Given the description of an element on the screen output the (x, y) to click on. 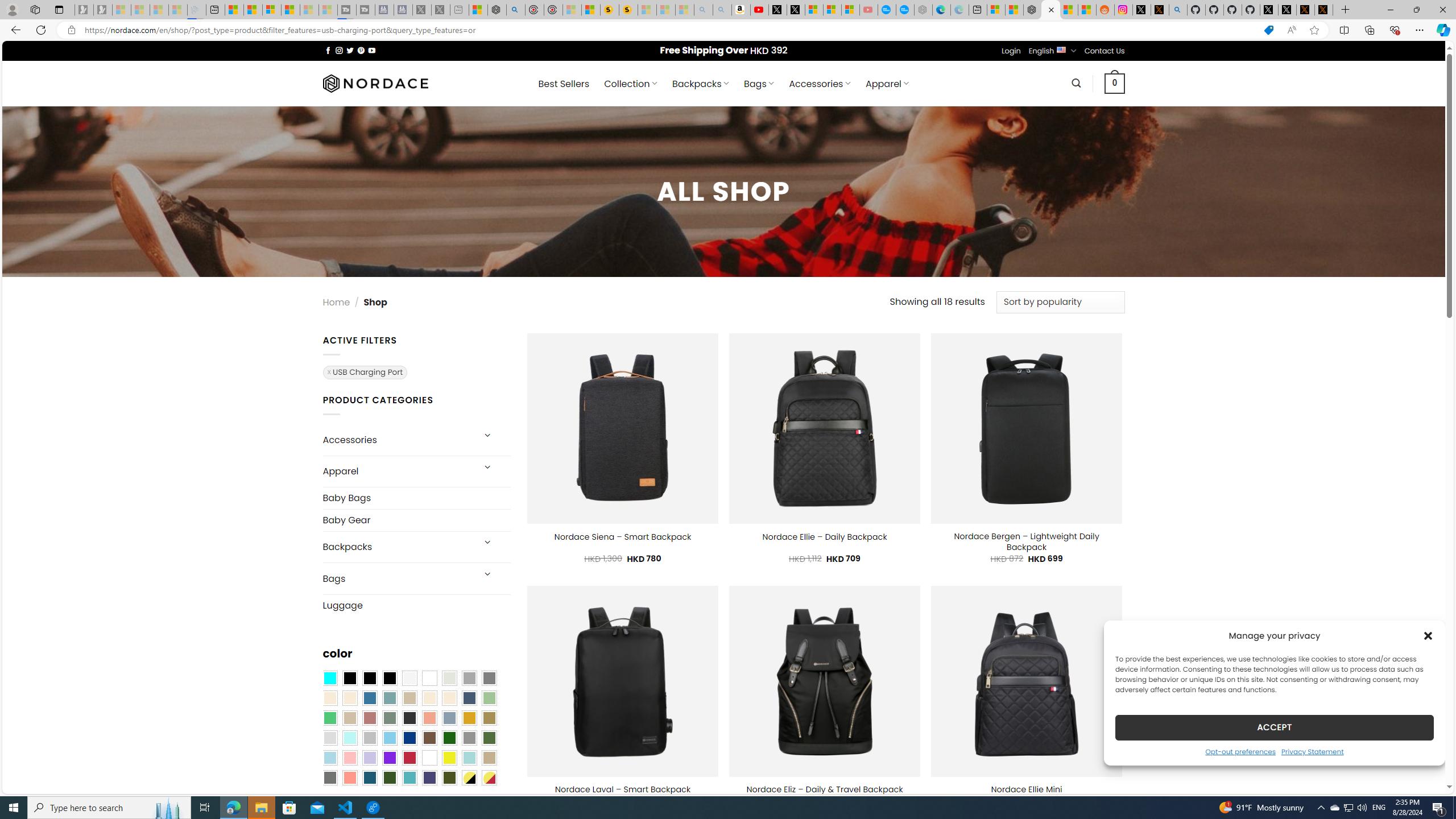
Nordace Ellie Mini (1026, 790)
Purple (389, 758)
Login (1010, 50)
  0   (1115, 83)
Bags (397, 578)
New Tab (1346, 9)
Navy Blue (408, 737)
Streaming Coverage | T3 - Sleeping (347, 9)
xUSB Charging Port (364, 371)
Baby Bags (416, 498)
Gloom - YouTube - Sleeping (868, 9)
